Given the description of an element on the screen output the (x, y) to click on. 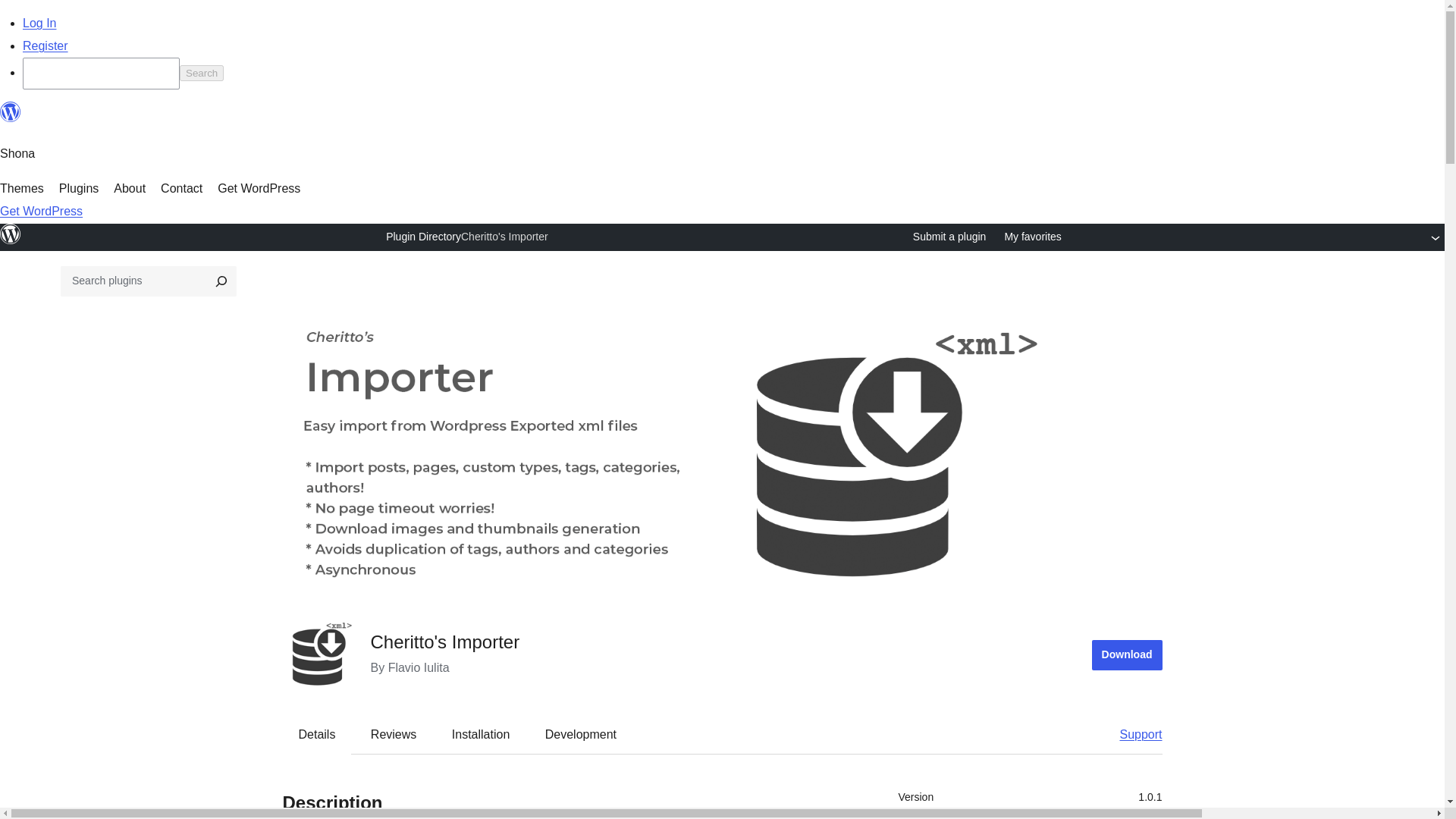
My favorites (1032, 237)
Installation (480, 733)
Themes (21, 188)
Reviews (392, 733)
Support (1132, 733)
Search (201, 73)
Details (316, 733)
Get WordPress (257, 188)
Submit a plugin (949, 237)
Development (580, 733)
